Given the description of an element on the screen output the (x, y) to click on. 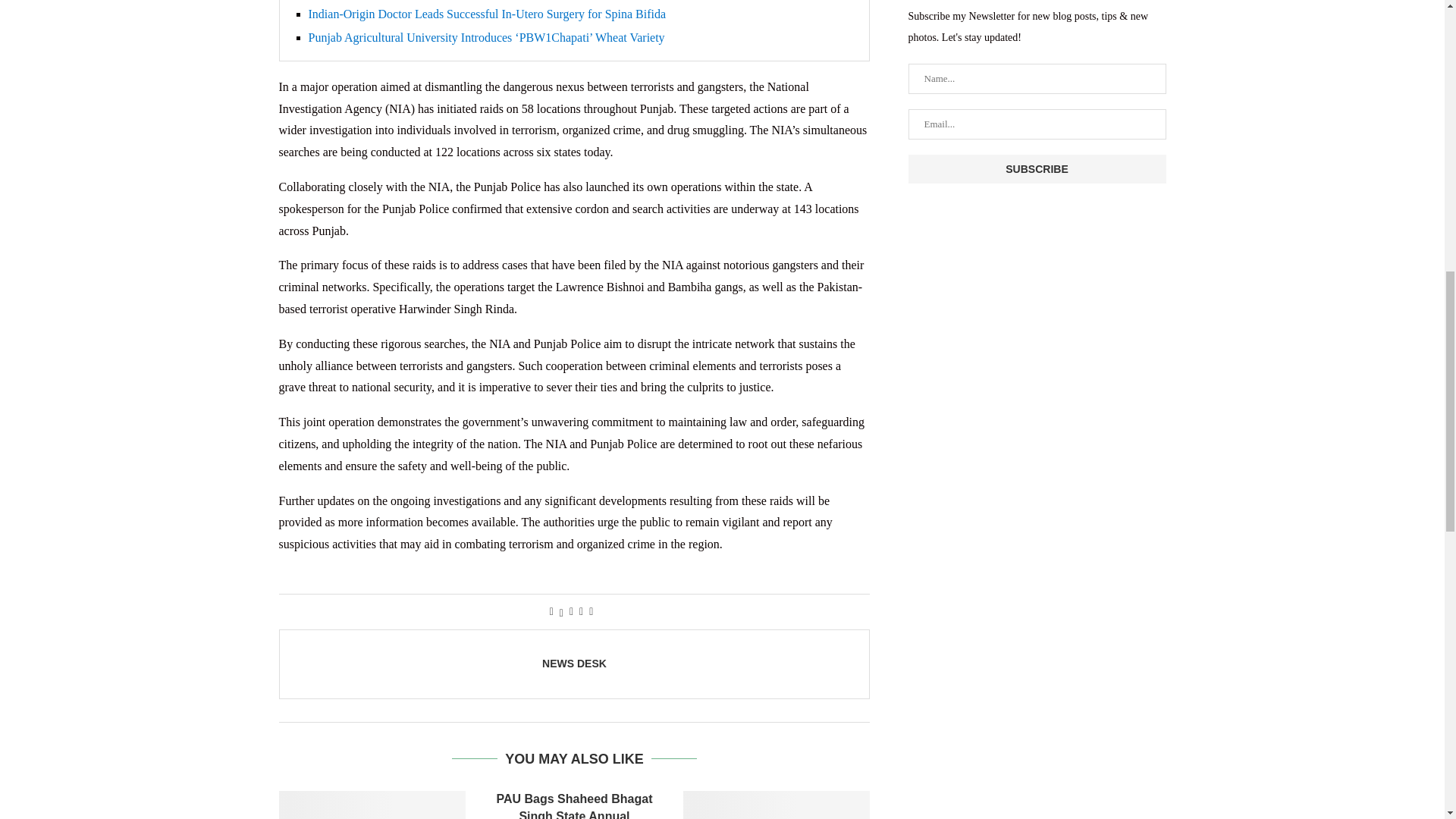
Subscribe (1037, 168)
Author News Desk (574, 663)
